Given the description of an element on the screen output the (x, y) to click on. 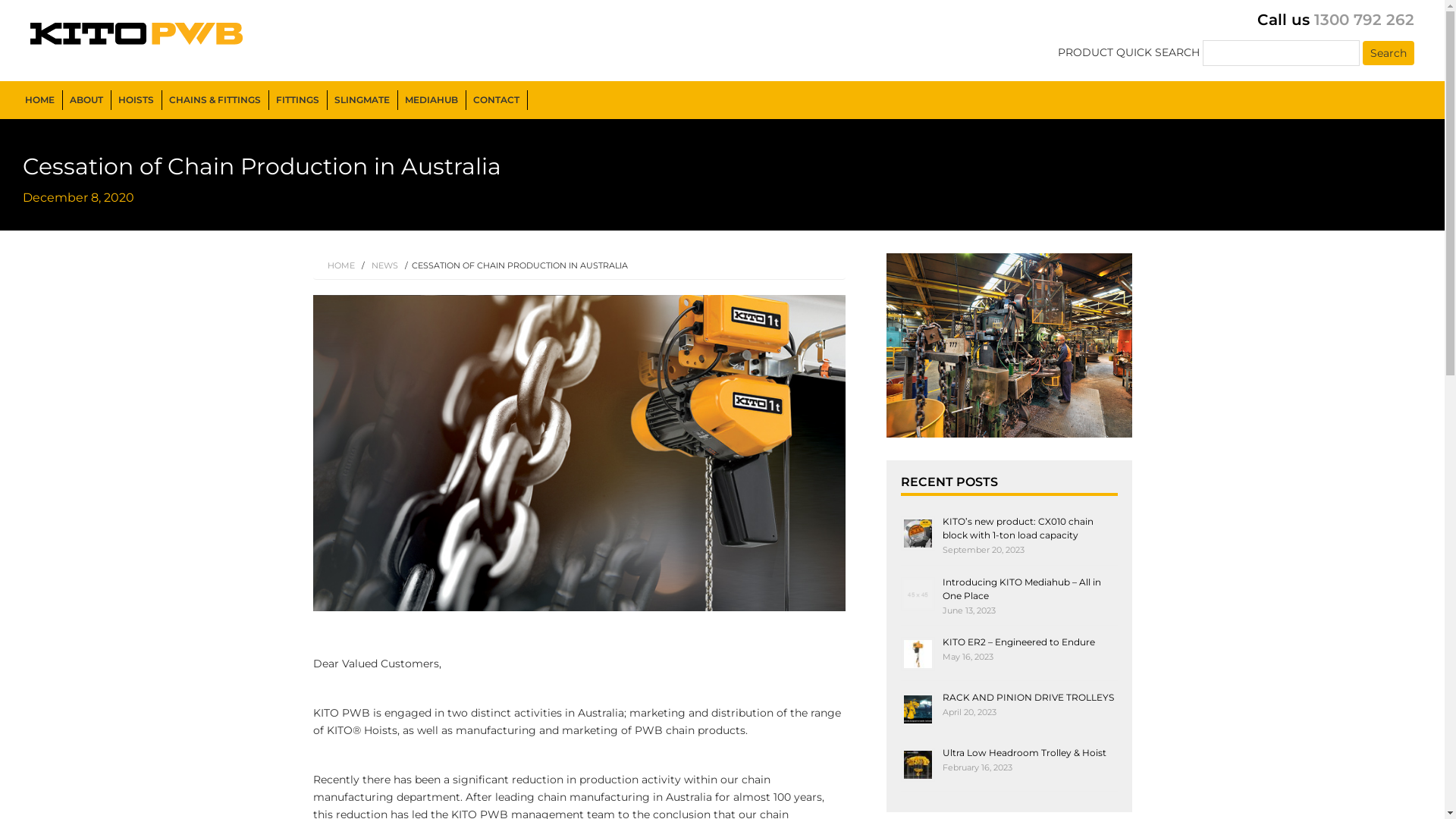
Search Element type: text (1388, 52)
CONTACT Element type: text (498, 99)
Ultra Low Headroom Trolley & Hoist Element type: text (1023, 752)
CHAINS & FITTINGS Element type: text (217, 99)
RACK AND PINION DRIVE TROLLEYS Element type: text (1027, 696)
HOME Element type: text (341, 265)
KITO PWB Element type: text (50, 59)
1300 792 262 Element type: text (1364, 19)
FITTINGS Element type: text (299, 99)
MEDIAHUB Element type: text (433, 99)
Skip to primary navigation Element type: text (0, 0)
HOME Element type: text (41, 99)
SLINGMATE Element type: text (364, 99)
HOISTS Element type: text (138, 99)
ABOUT Element type: text (88, 99)
NEWS Element type: text (384, 265)
